Given the description of an element on the screen output the (x, y) to click on. 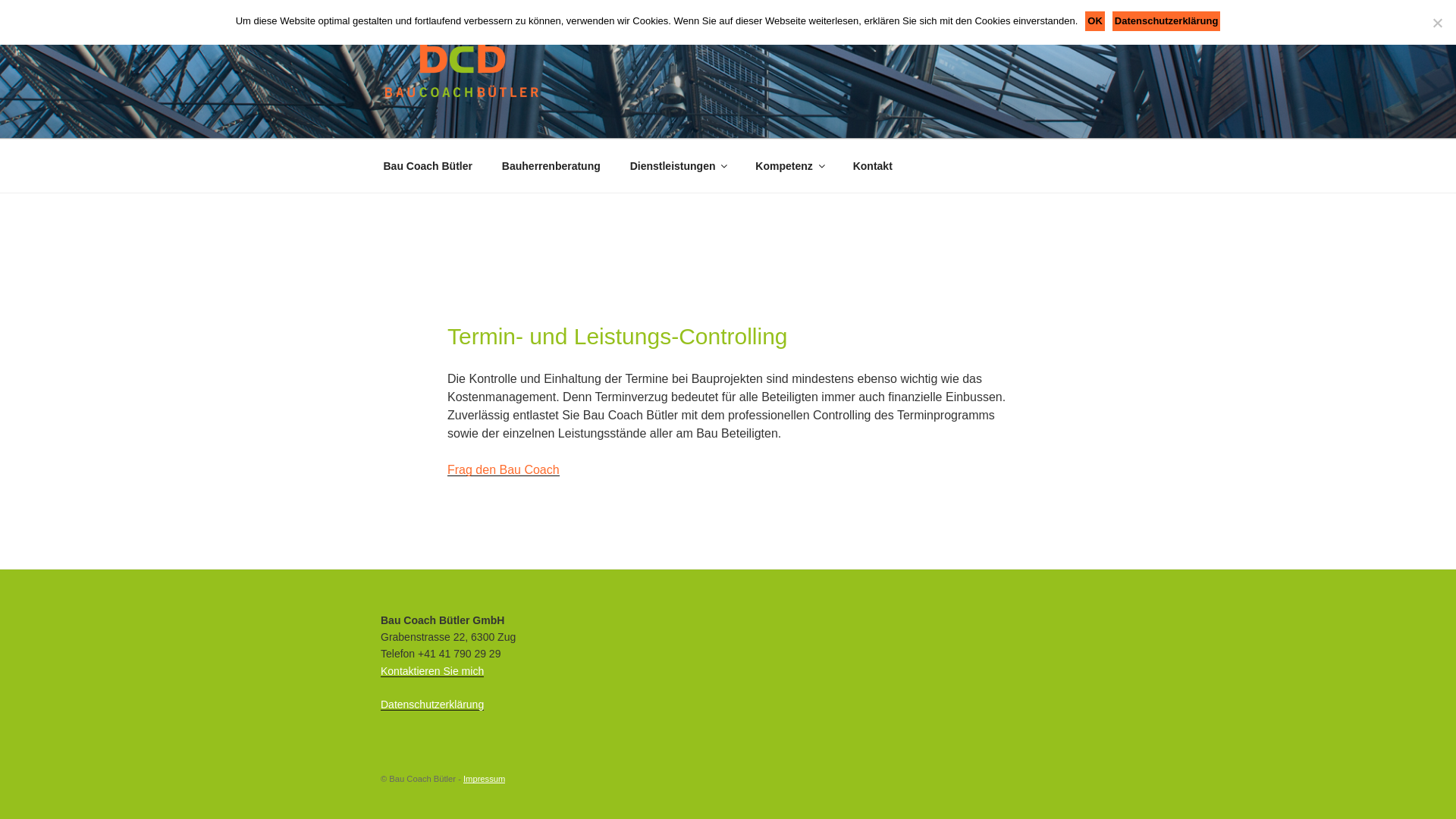
Frag den Bau Coach Element type: text (503, 468)
Bauherrenberatung Element type: text (550, 165)
Impressum Element type: text (484, 778)
OK Element type: text (1094, 21)
Kontaktieren Sie mich Element type: text (431, 671)
Kompetenz Element type: text (789, 165)
Nein Element type: hover (1436, 22)
Kontakt Element type: text (872, 165)
Dienstleistungen Element type: text (677, 165)
